Given the description of an element on the screen output the (x, y) to click on. 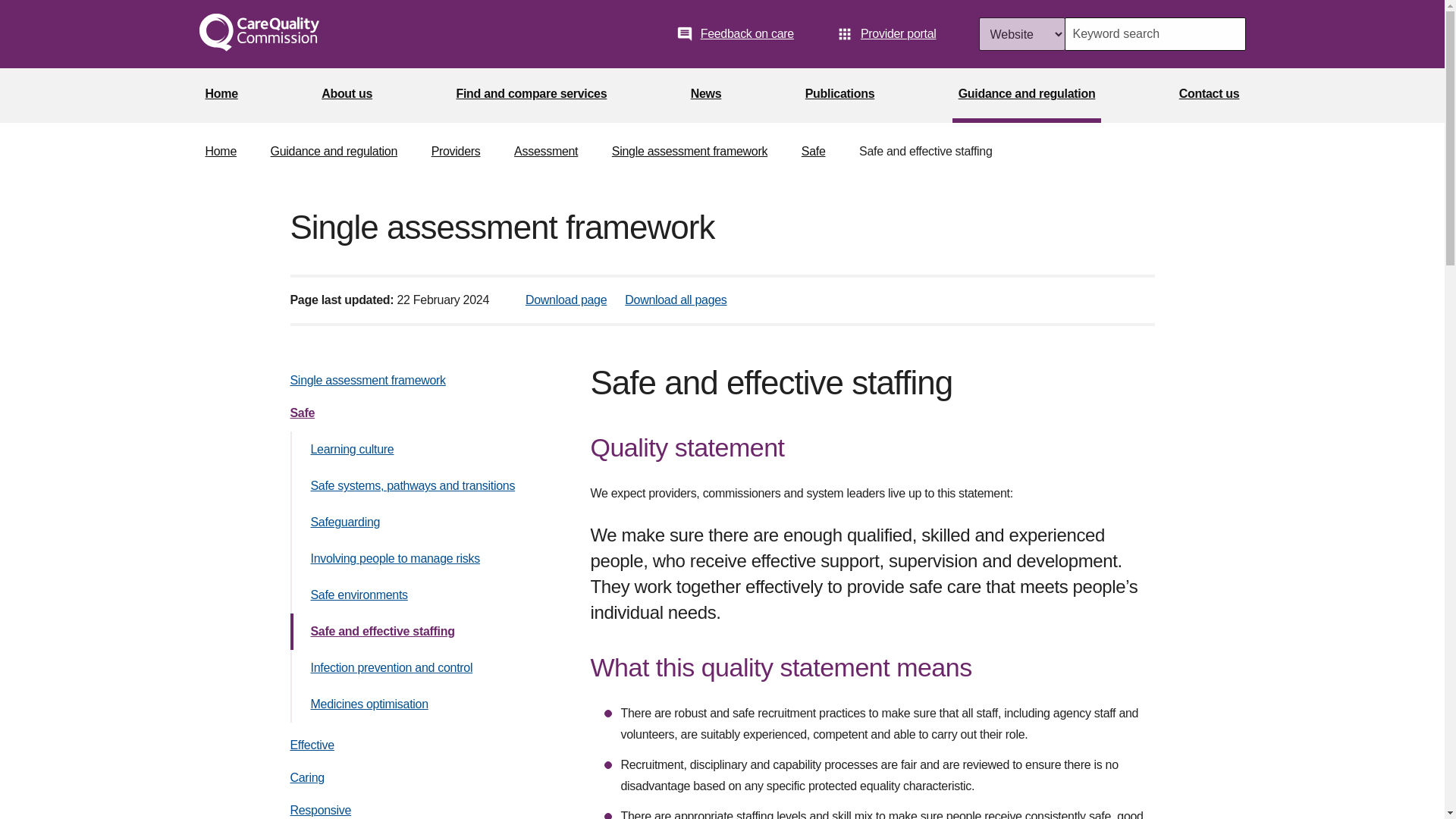
Learning culture (352, 449)
Find and compare services (530, 94)
Single assessment framework (689, 151)
Assessment (545, 151)
Provider portal (885, 33)
The Care Quality Commission (258, 34)
Download all pages (675, 299)
Safe (301, 412)
Single assessment framework (367, 379)
Publications (839, 94)
Home (220, 94)
Search (1227, 33)
Guidance and regulation (333, 151)
About us (346, 94)
Providers (455, 151)
